Given the description of an element on the screen output the (x, y) to click on. 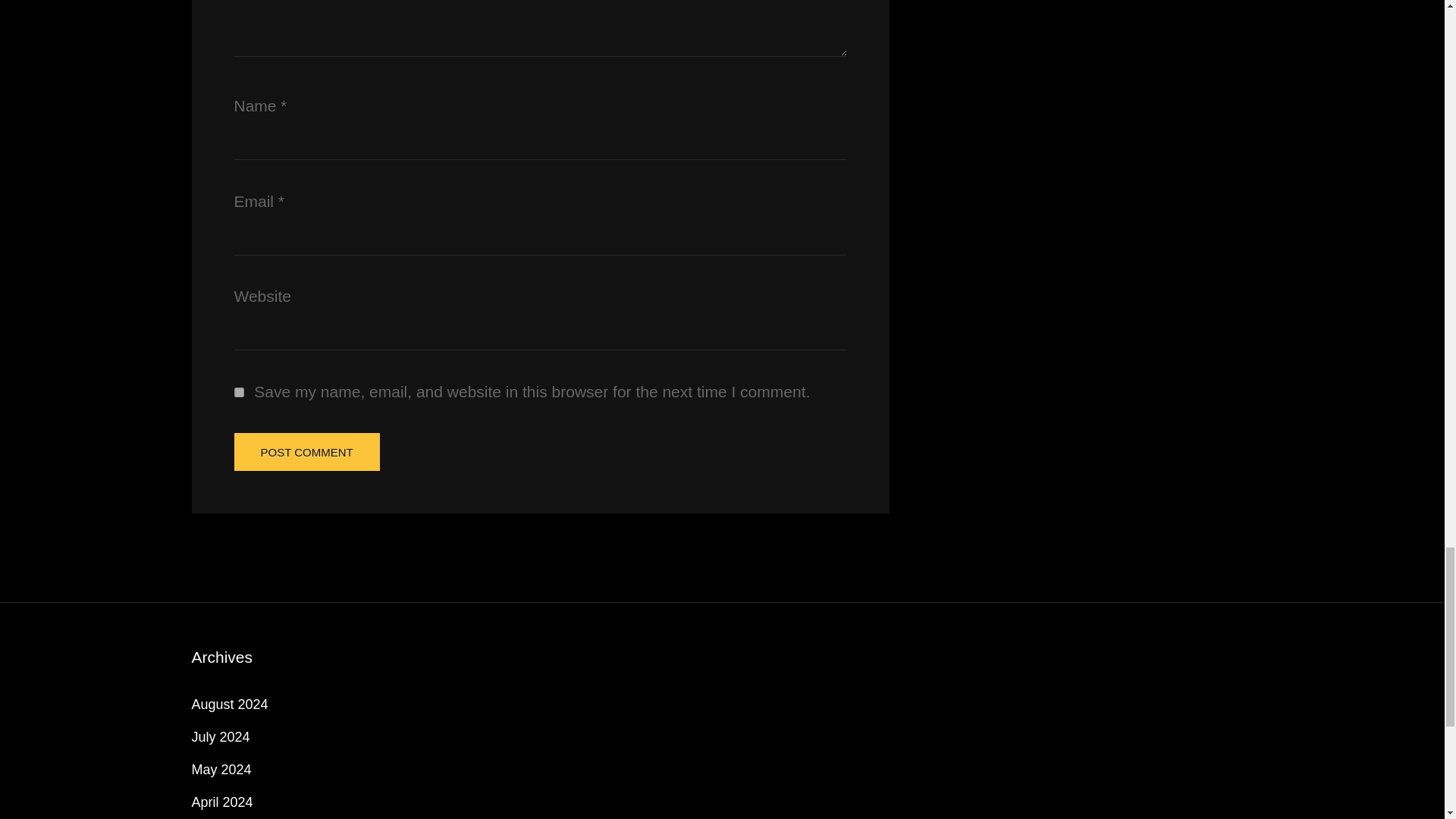
July 2024 (219, 736)
May 2024 (220, 769)
April 2024 (220, 801)
Post Comment (305, 451)
August 2024 (228, 703)
Post Comment (305, 451)
yes (237, 392)
